Given the description of an element on the screen output the (x, y) to click on. 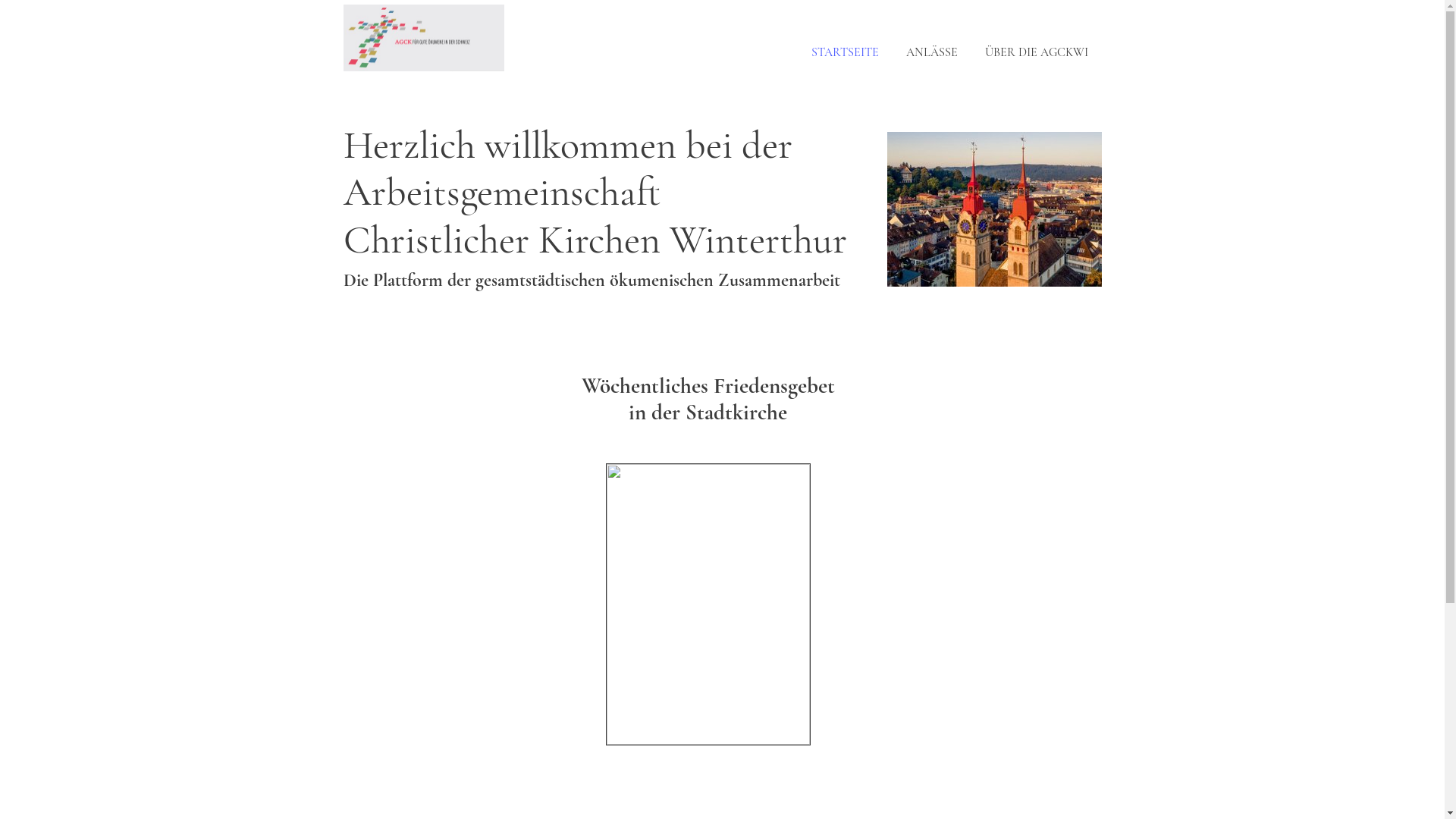
STARTSEITE Element type: text (844, 52)
